Given the description of an element on the screen output the (x, y) to click on. 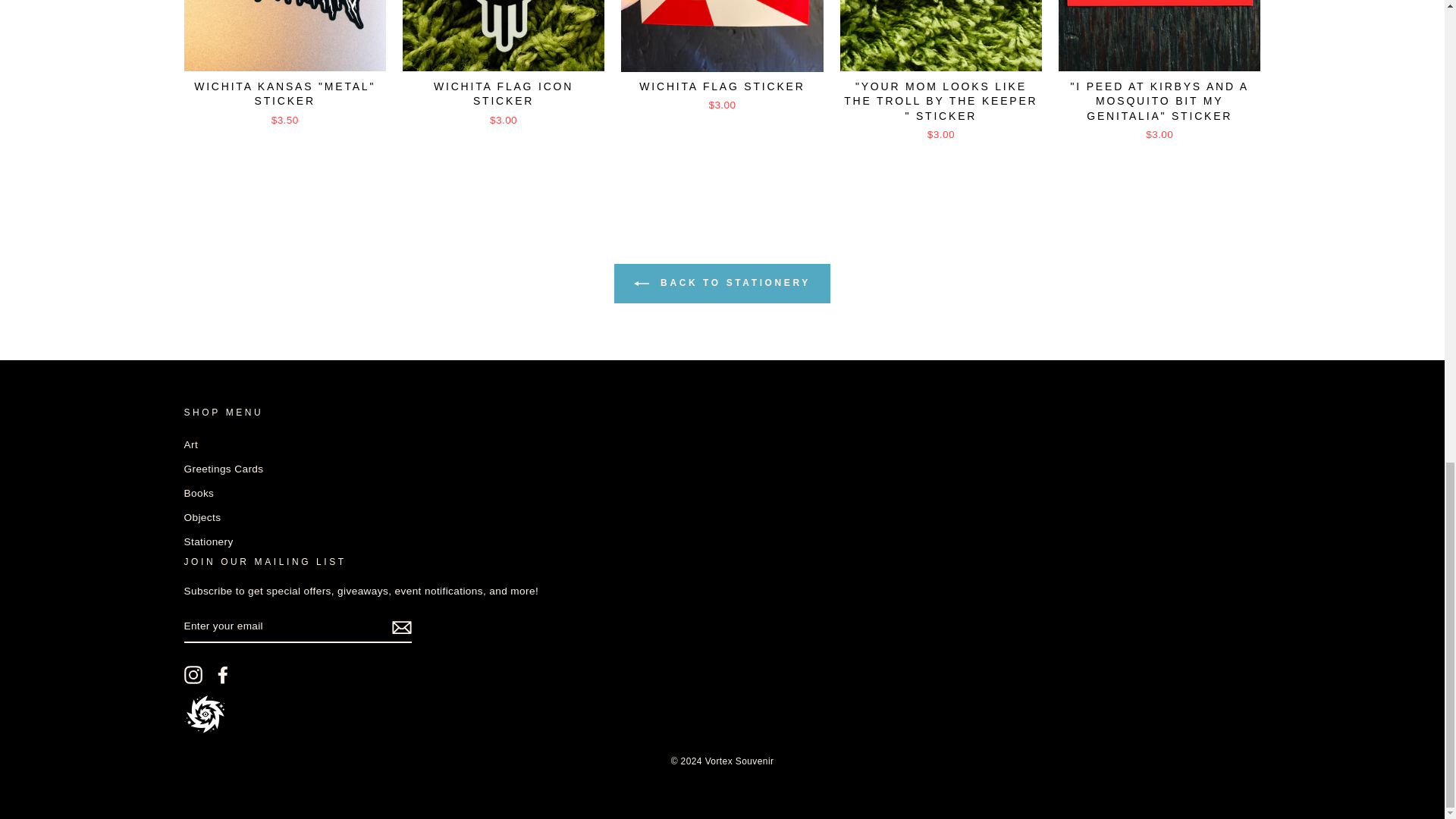
Vortex Souvenir on Facebook (222, 674)
Vortex Souvenir on Instagram (192, 674)
